Given the description of an element on the screen output the (x, y) to click on. 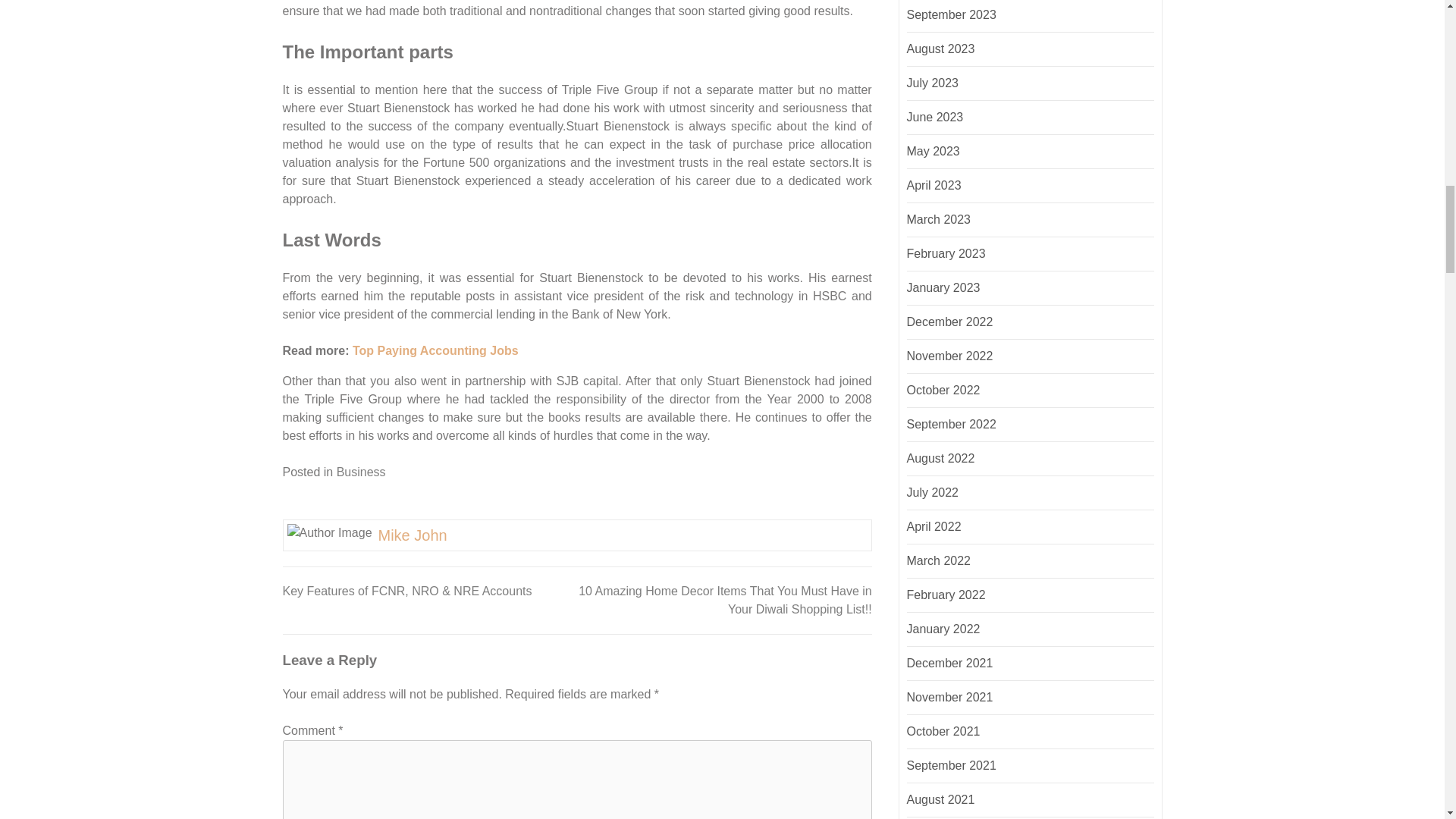
August 2023 (941, 48)
Business (360, 472)
Author Image (328, 533)
September 2023 (951, 14)
July 2023 (933, 82)
Top Paying Accounting Jobs (435, 350)
